Given the description of an element on the screen output the (x, y) to click on. 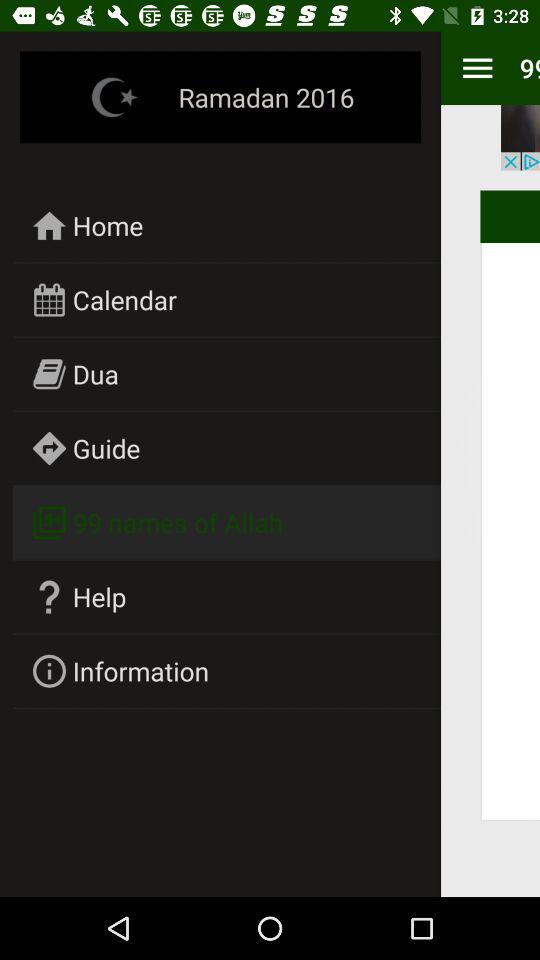
select item above the allah item (520, 137)
